Given the description of an element on the screen output the (x, y) to click on. 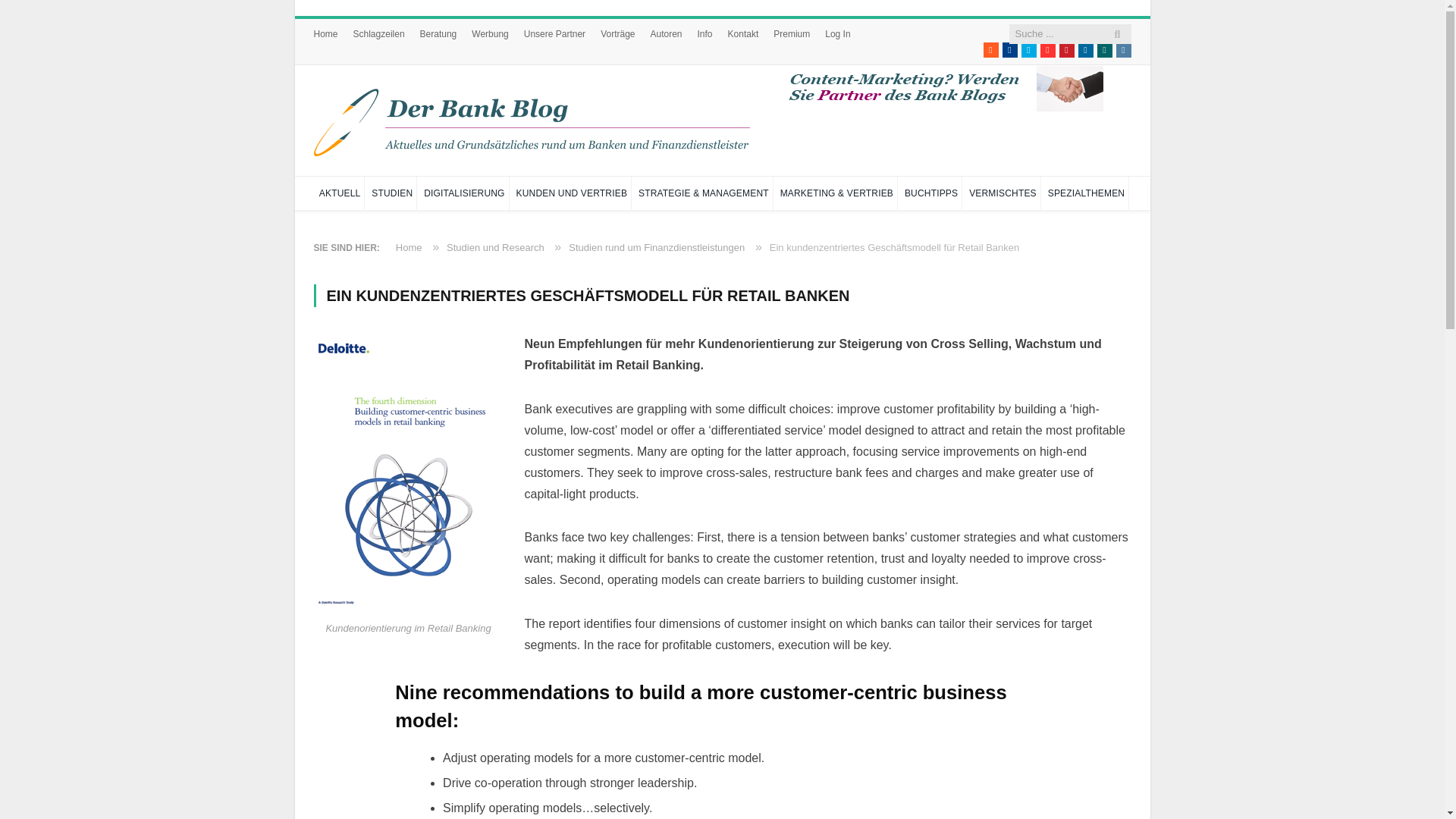
Xing (1104, 49)
youtube (1048, 49)
Twitter (1027, 49)
Facebook (1010, 49)
Twitter (1027, 49)
Kontakt (743, 33)
STUDIEN (392, 192)
youtube (1048, 49)
Xing (1104, 49)
Autoren (666, 33)
